Given the description of an element on the screen output the (x, y) to click on. 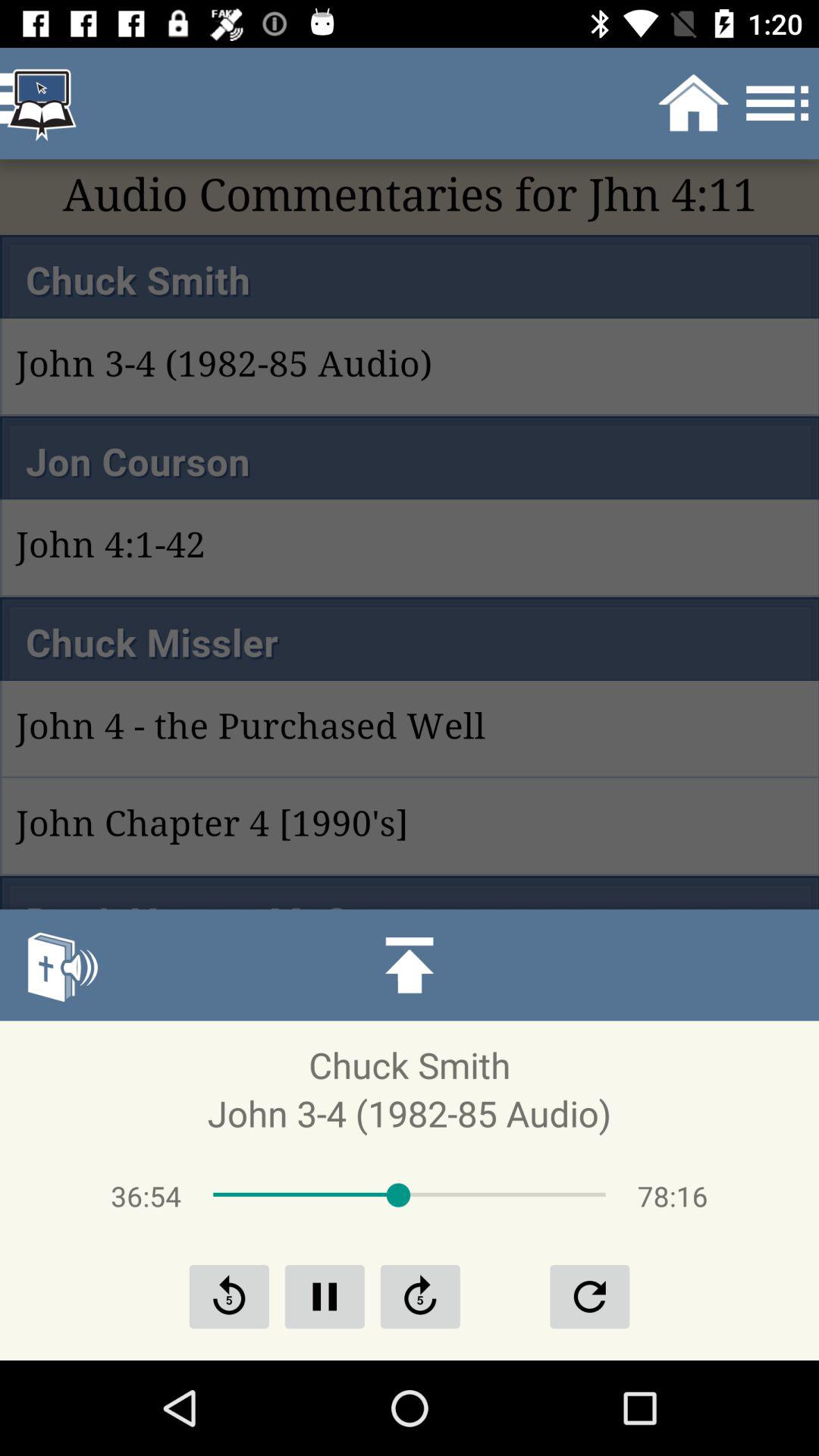
restart the audio from the beginning (589, 1296)
